Given the description of an element on the screen output the (x, y) to click on. 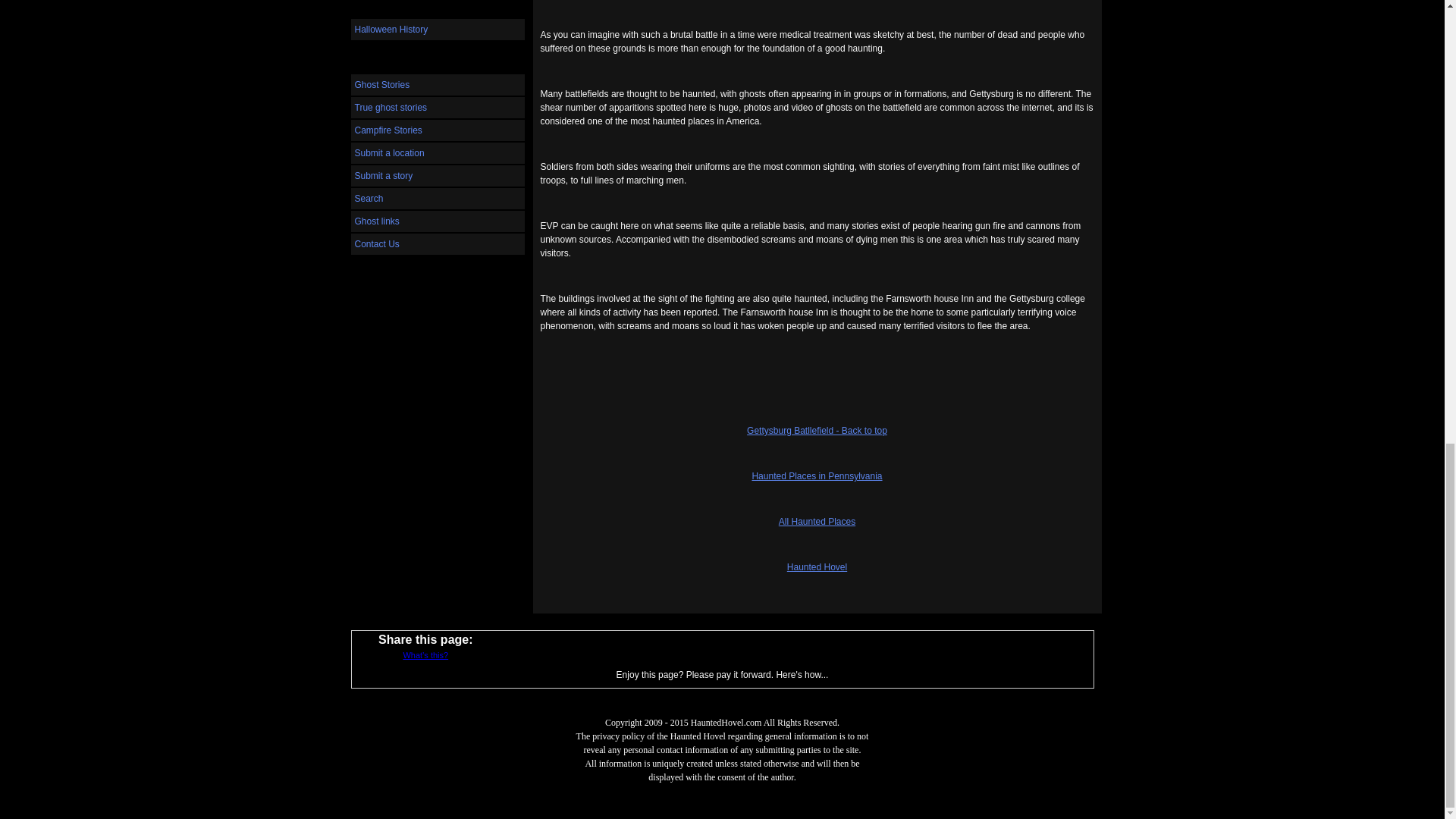
Ghost links (437, 220)
Campfire Stories (437, 129)
Gettysburg Batllefield - Back to top (816, 430)
True ghost stories (437, 107)
Halloween History (437, 29)
Search (437, 198)
Haunted Hovel (817, 566)
All Haunted Places (817, 521)
Submit a story (437, 175)
Ghost Stories (437, 84)
Haunted Places in Pennsylvania (816, 475)
Submit a location (437, 152)
